Given the description of an element on the screen output the (x, y) to click on. 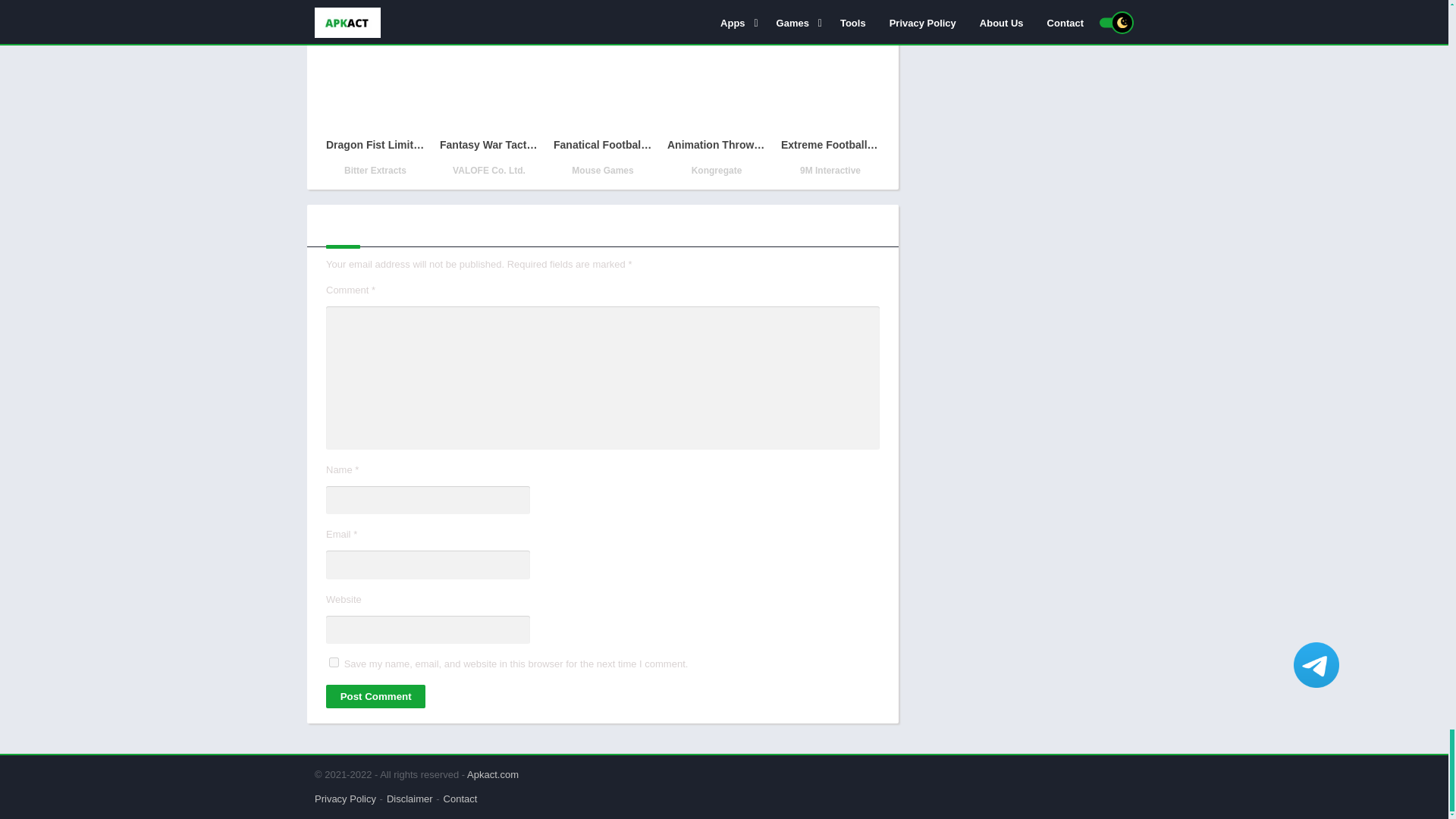
yes (334, 662)
Post Comment (375, 696)
